Given the description of an element on the screen output the (x, y) to click on. 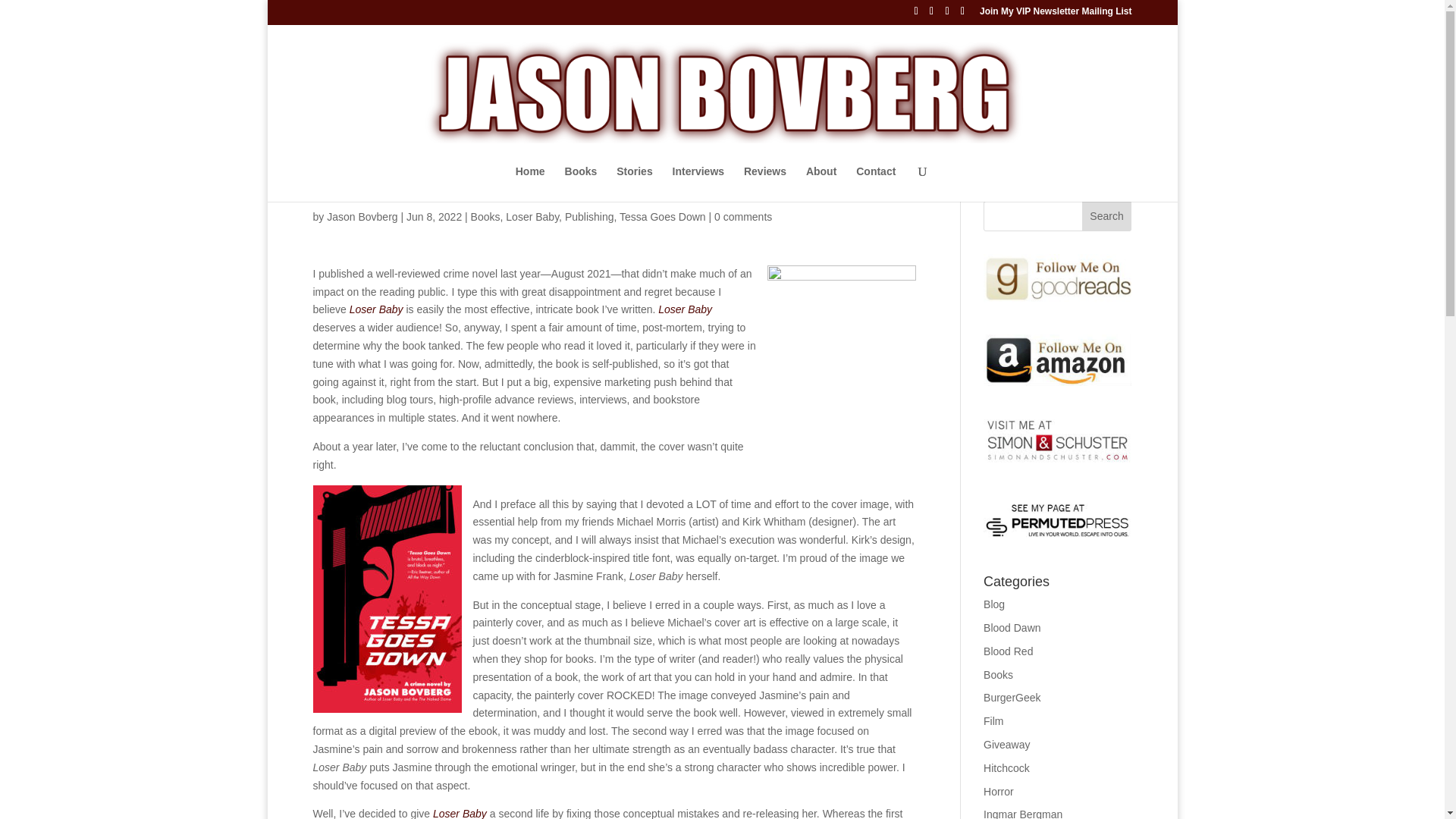
Posts by Jason Bovberg (361, 216)
Blood Dawn (1012, 627)
Search (1106, 215)
Jason Bovberg (361, 216)
Loser Baby (459, 813)
0 comments (742, 216)
Loser Baby (532, 216)
Join My VIP Newsletter Mailing List (1055, 14)
Stories (633, 183)
Loser Baby (376, 309)
